Given the description of an element on the screen output the (x, y) to click on. 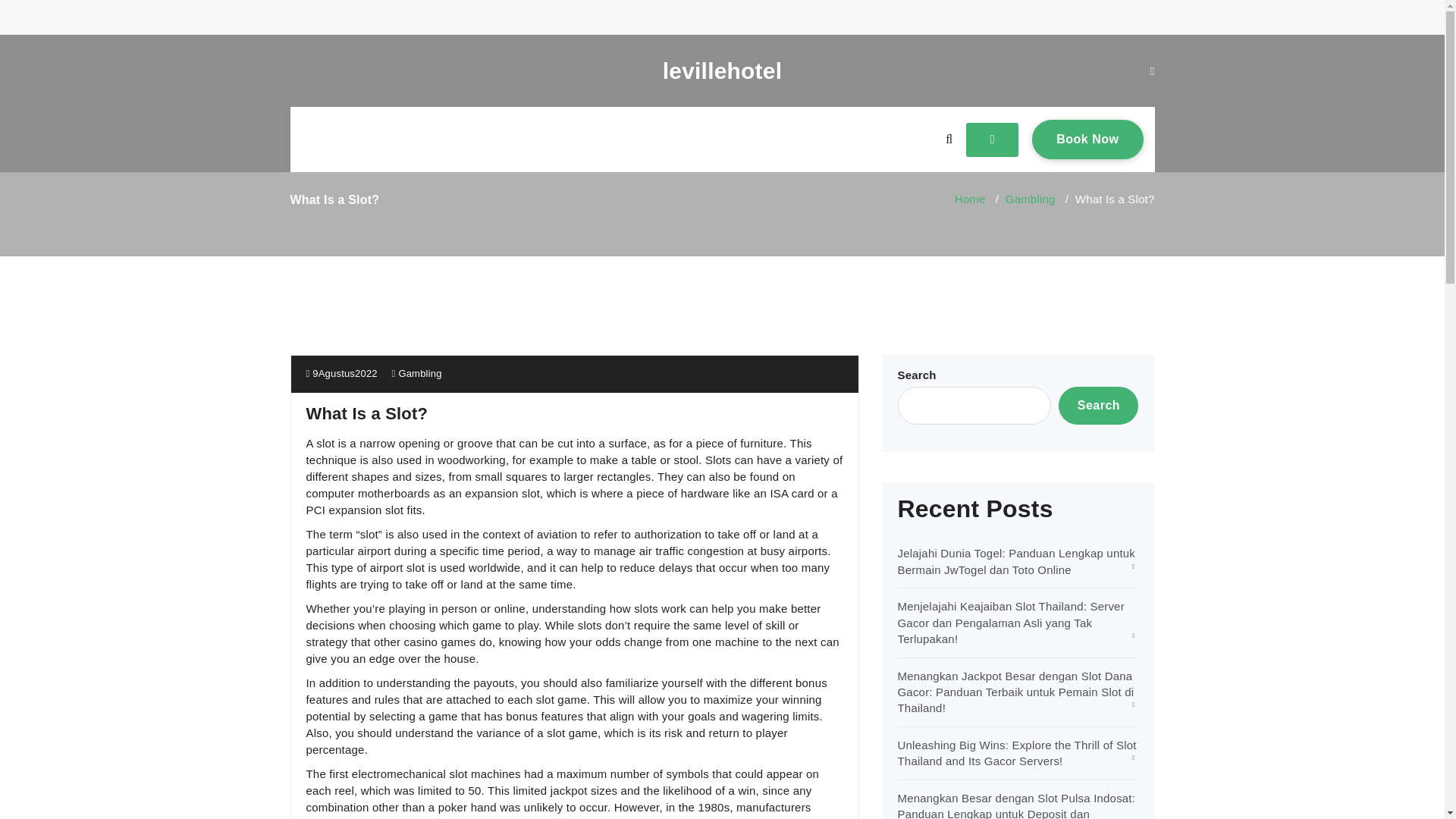
Search (1098, 405)
Gambling (419, 373)
Home (1087, 138)
Gambling (970, 198)
levillehotel (1030, 198)
9Agustus2022 (721, 71)
